Given the description of an element on the screen output the (x, y) to click on. 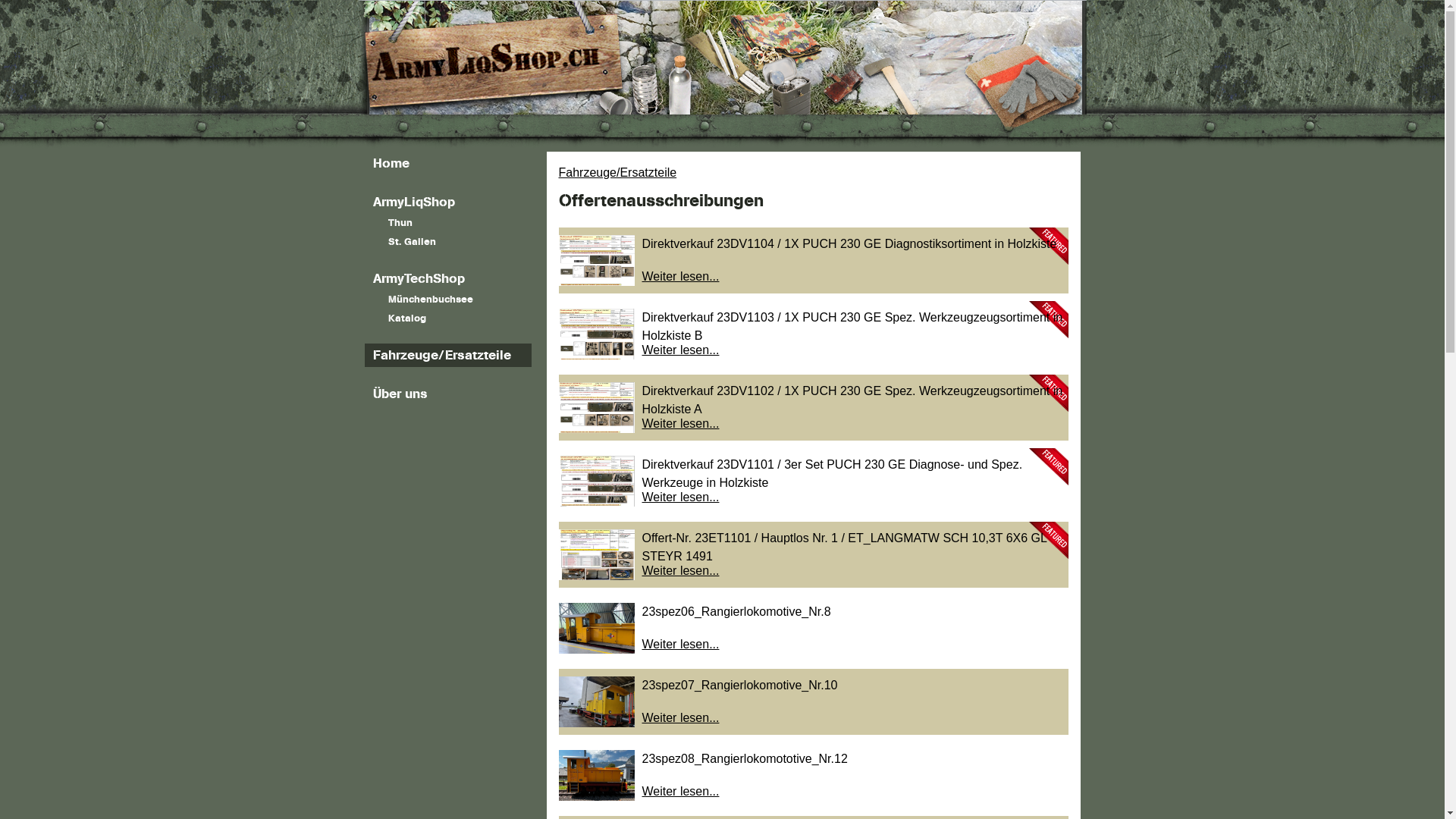
St. Gallen Element type: text (447, 241)
Fahrzeuge/Ersatzteile Element type: text (447, 355)
ArmyLiqShop Element type: text (447, 201)
Home Element type: text (447, 163)
Fahrzeuge/Ersatzteile Element type: text (617, 172)
23spez07_Rangierlokomotive_Nr.10
Weiter lesen... Element type: text (812, 701)
23spez08_Rangierlokomototive_Nr.12
Weiter lesen... Element type: text (812, 775)
Katalog Element type: text (447, 318)
ArmyTechShop Element type: text (447, 278)
23spez06_Rangierlokomotive_Nr.8
Weiter lesen... Element type: text (812, 628)
Thun Element type: text (447, 222)
